Given the description of an element on the screen output the (x, y) to click on. 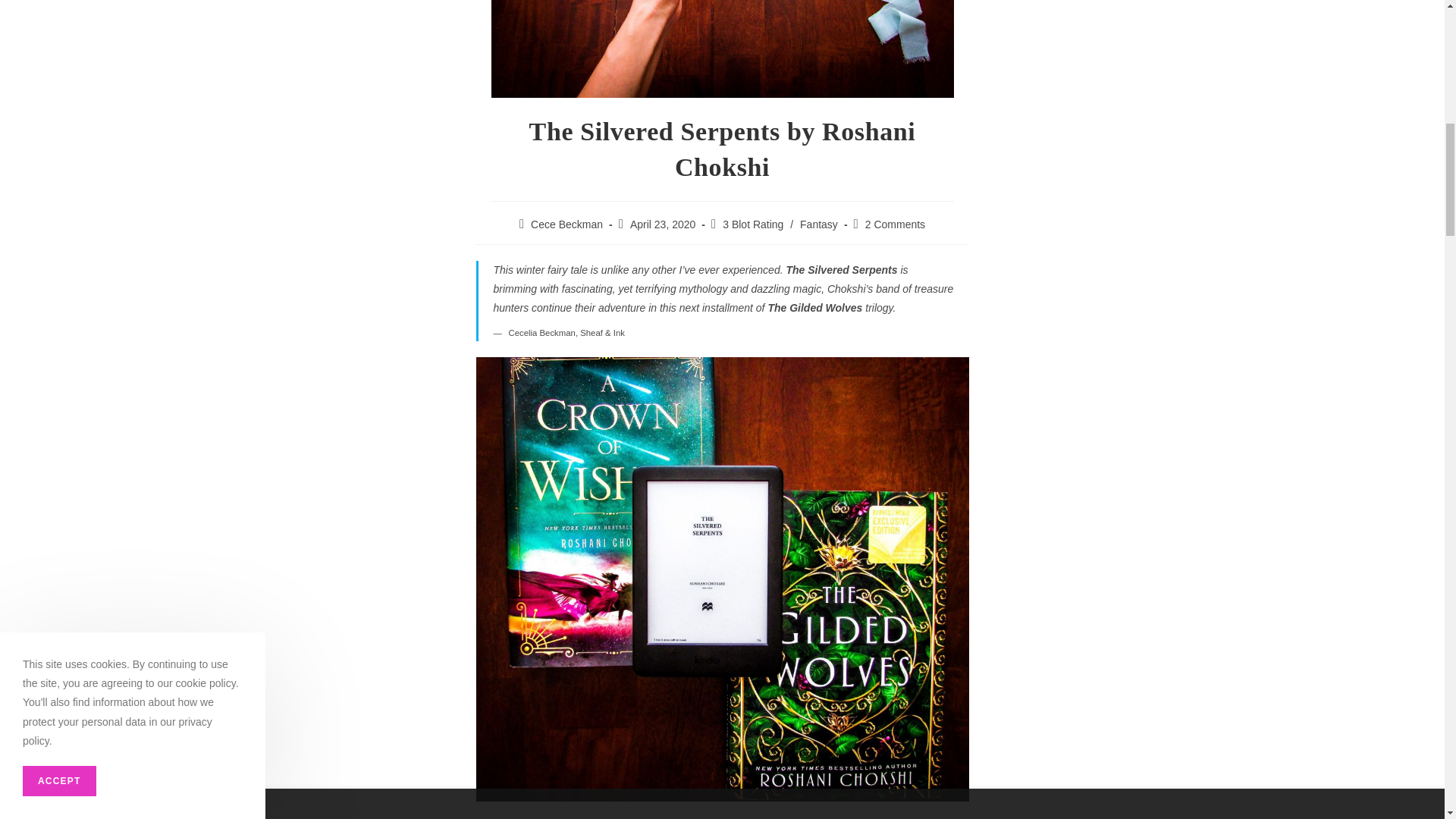
Cece Beckman (566, 224)
2 Comments (894, 224)
3 Blot Rating (752, 224)
Posts by Cece Beckman (566, 224)
Fantasy (818, 224)
